Given the description of an element on the screen output the (x, y) to click on. 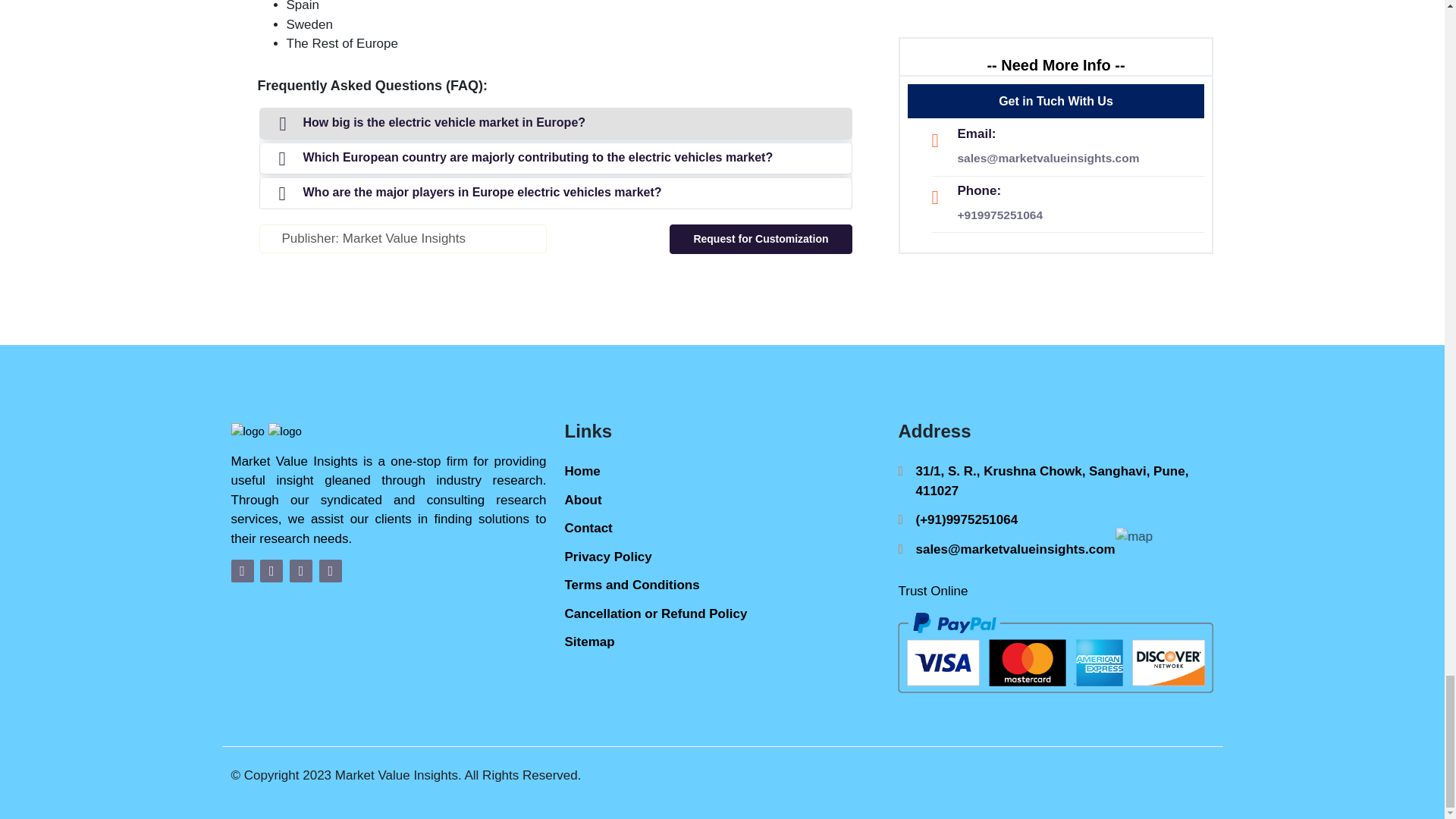
How big is the electric vehicle market in Europe? (554, 123)
Request for Customization (760, 238)
